Given the description of an element on the screen output the (x, y) to click on. 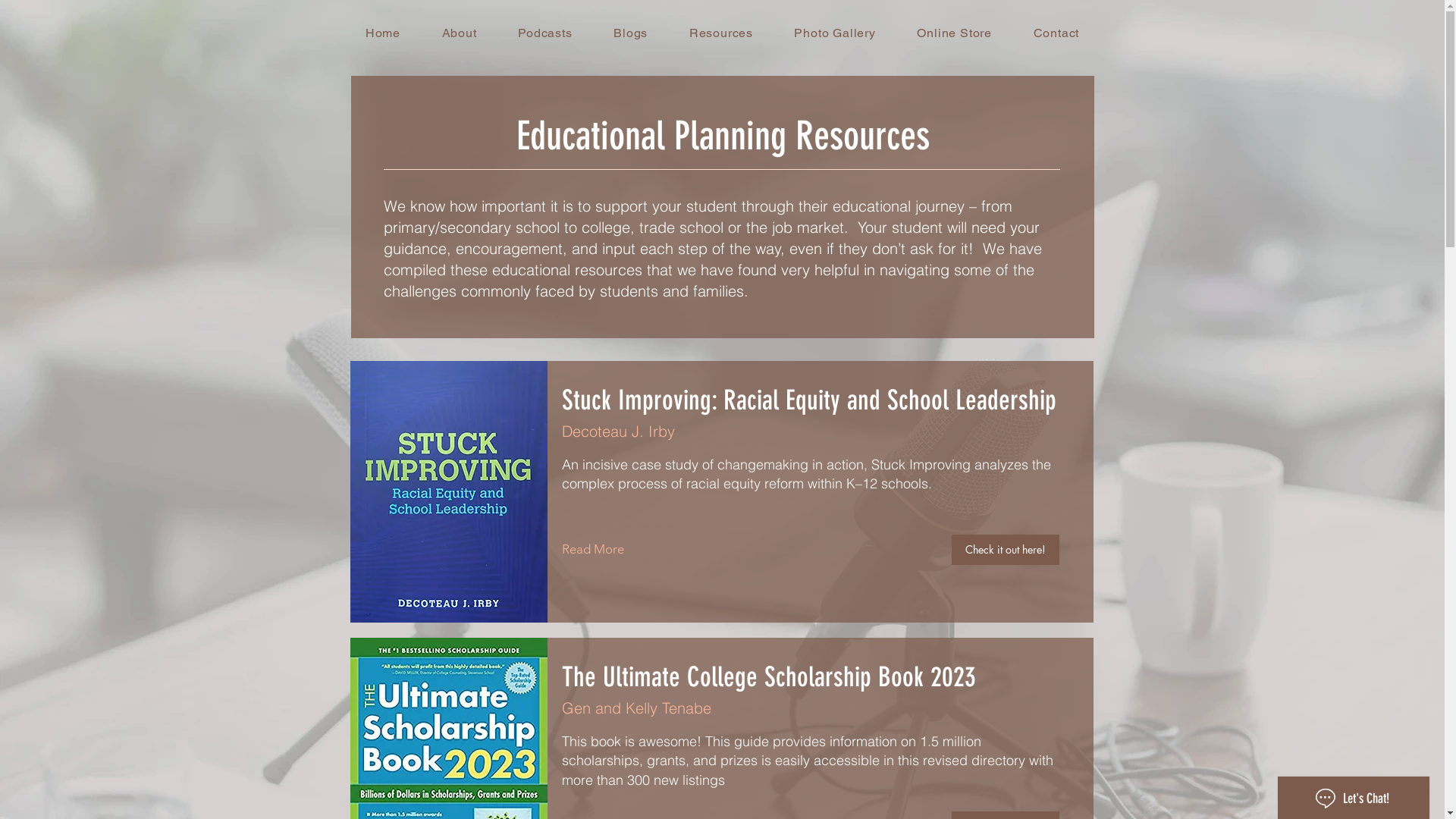
Read More Element type: text (609, 549)
college_book_STUCKI.jpg Element type: hover (448, 491)
Online Store Element type: text (954, 32)
Contact Element type: text (1055, 32)
Check it out here! Element type: text (1004, 549)
Home Element type: text (382, 32)
Podcasts Element type: text (544, 32)
Online Store Element type: hover (1404, 35)
Blogs Element type: text (630, 32)
About Element type: text (458, 32)
Photo Gallery Element type: text (834, 32)
Resources Element type: text (720, 32)
